Given the description of an element on the screen output the (x, y) to click on. 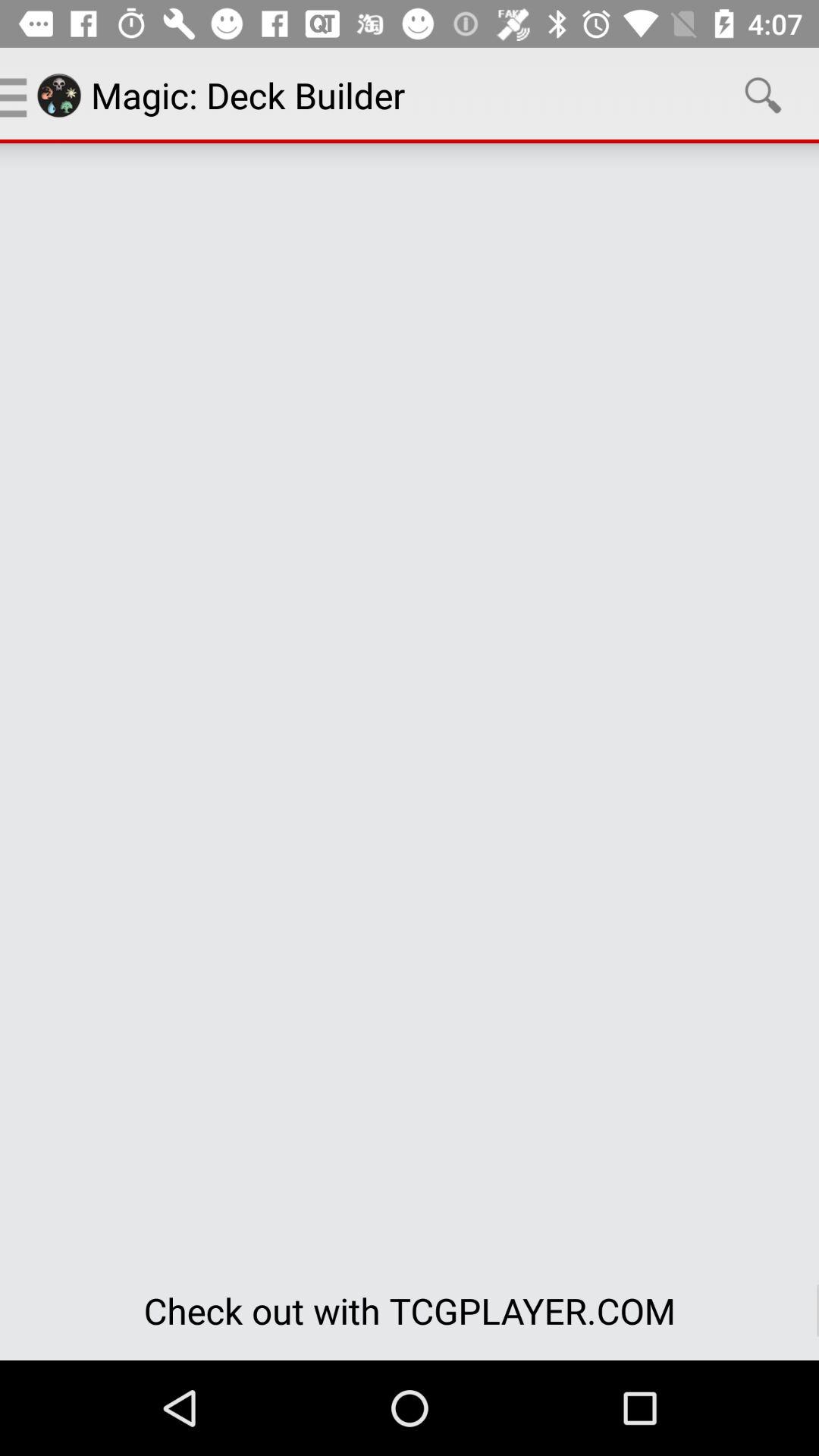
open icon above the check out with icon (763, 95)
